Given the description of an element on the screen output the (x, y) to click on. 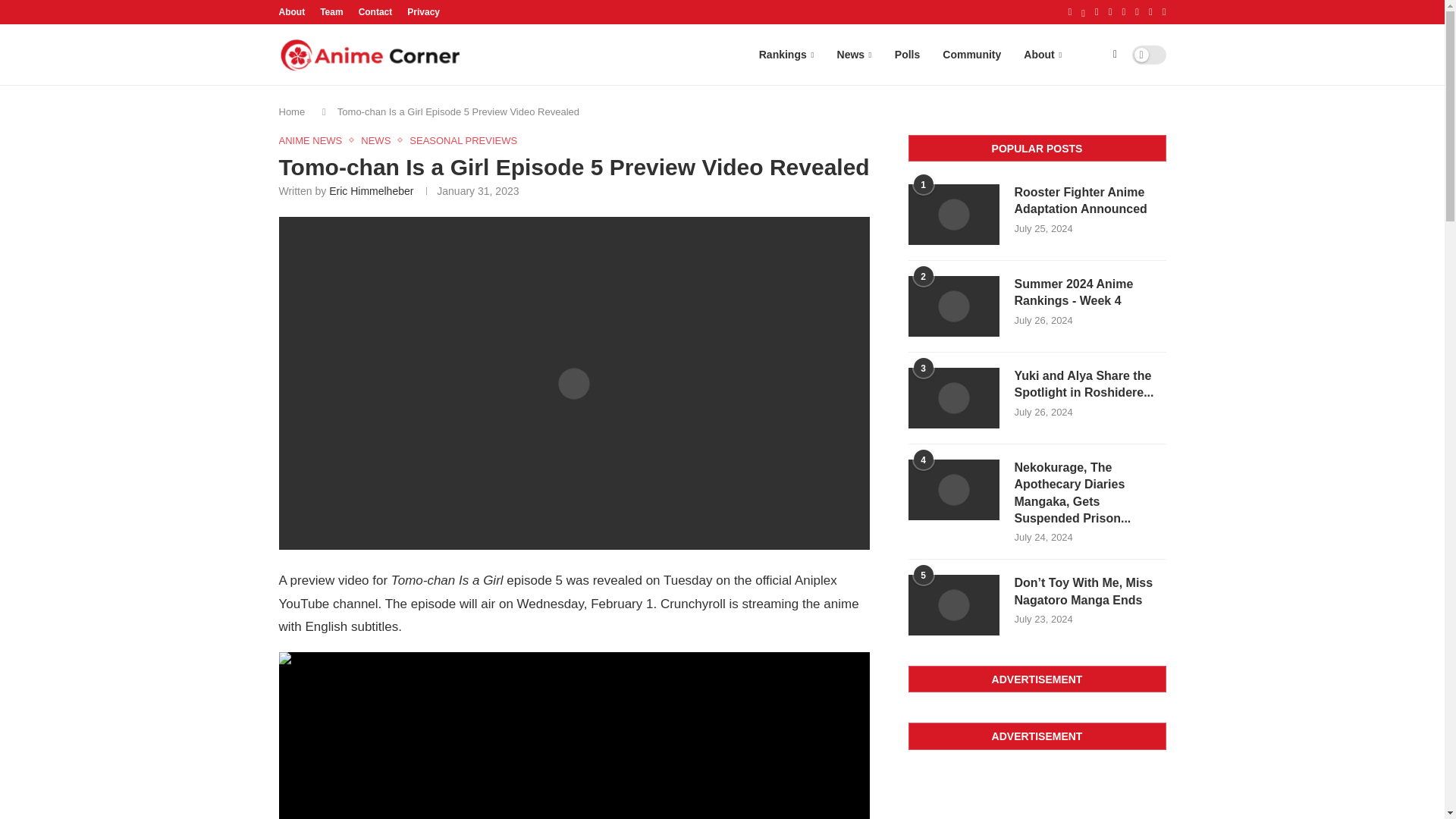
Community (971, 54)
Rooster Fighter Anime Adaptation Announced (1090, 201)
ANIME NEWS (314, 141)
Summer 2024 Anime Rankings - Week 4 (1090, 293)
Team (331, 12)
NEWS (379, 141)
Rooster Fighter Anime Adaptation Announced (953, 214)
Rankings (786, 54)
Privacy (423, 12)
About (292, 12)
